Given the description of an element on the screen output the (x, y) to click on. 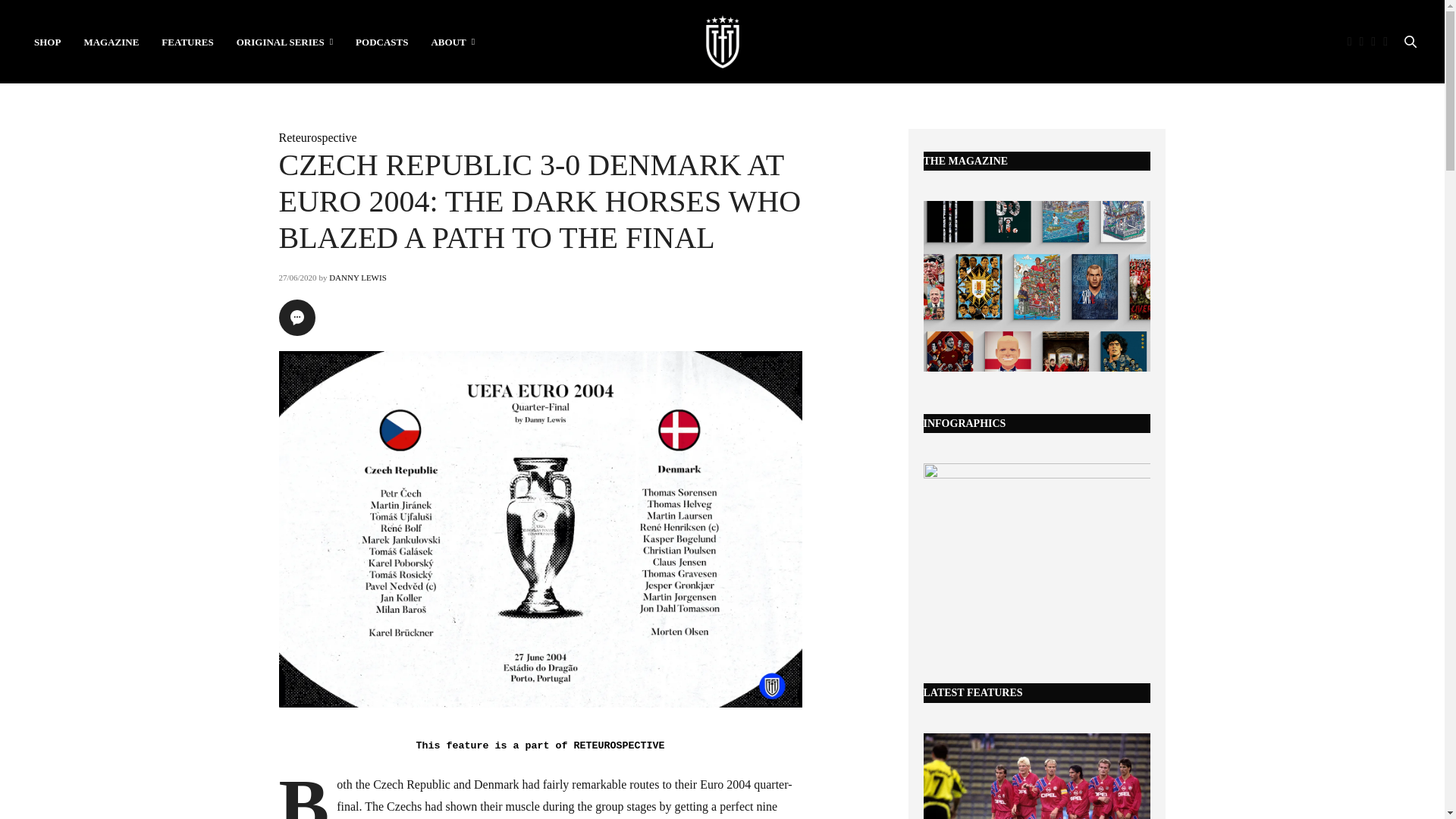
ORIGINAL SERIES (284, 41)
MAGAZINE (110, 41)
FEATURES (186, 41)
Posts by Danny Lewis (358, 276)
